Given the description of an element on the screen output the (x, y) to click on. 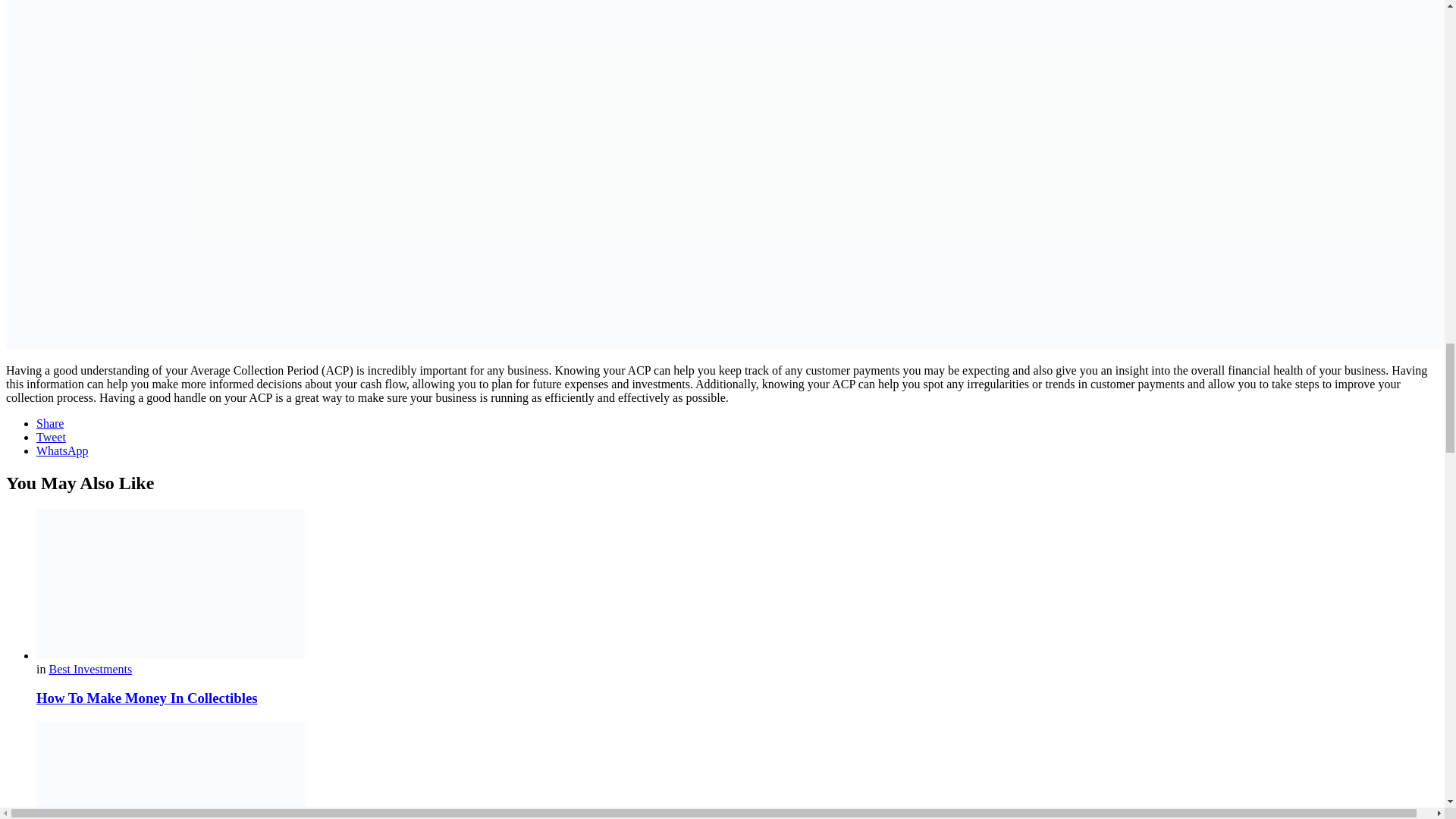
Share on WhatsApp (61, 450)
Share (50, 422)
Share on Share (50, 422)
Share on Tweet (50, 436)
Best Investments (90, 668)
How To Make Money In Collectibles (146, 697)
WhatsApp (61, 450)
Tweet (50, 436)
